Given the description of an element on the screen output the (x, y) to click on. 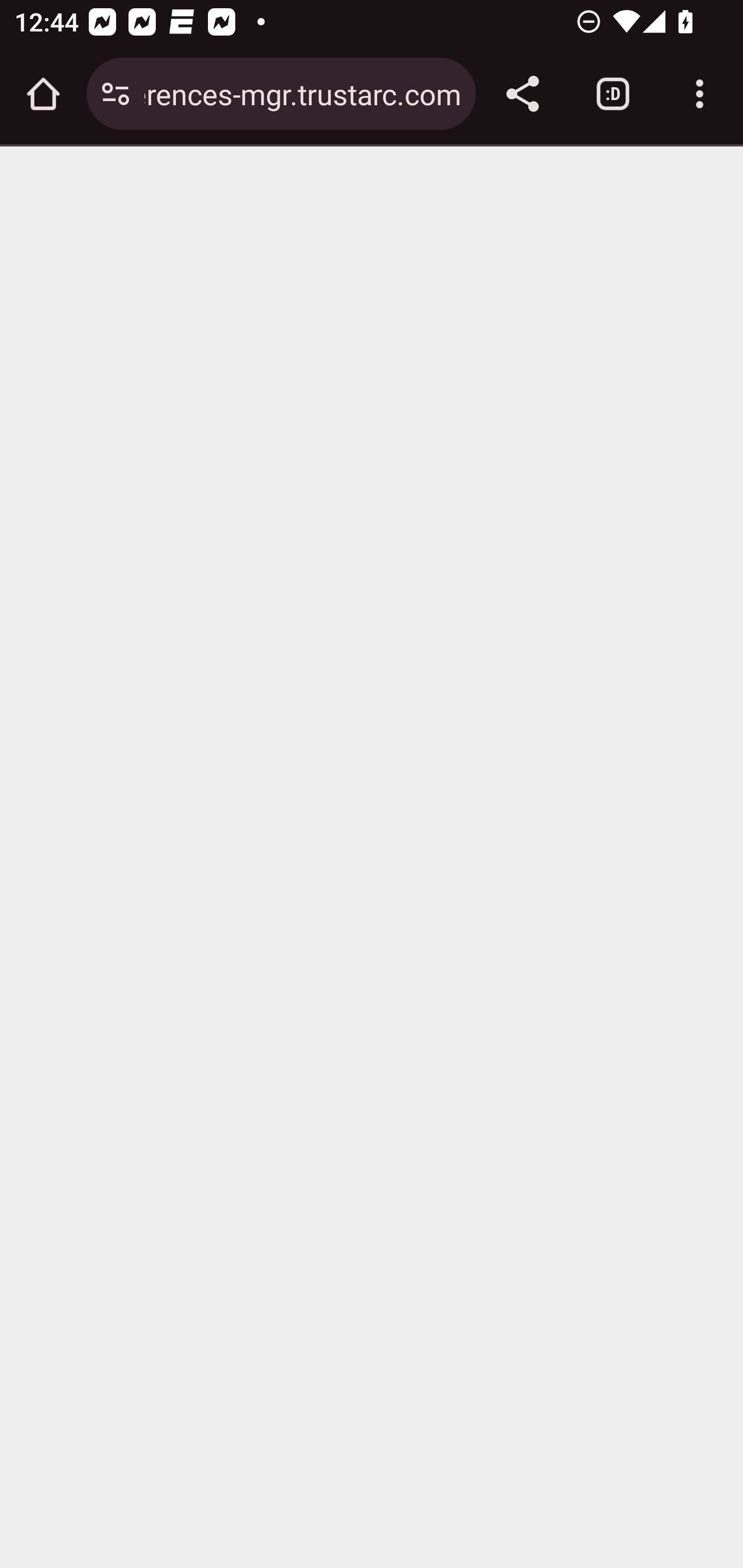
Open the home page (43, 93)
Connection is secure (115, 93)
Share (522, 93)
Switch or close tabs (612, 93)
Customize and control Google Chrome (699, 93)
